Given the description of an element on the screen output the (x, y) to click on. 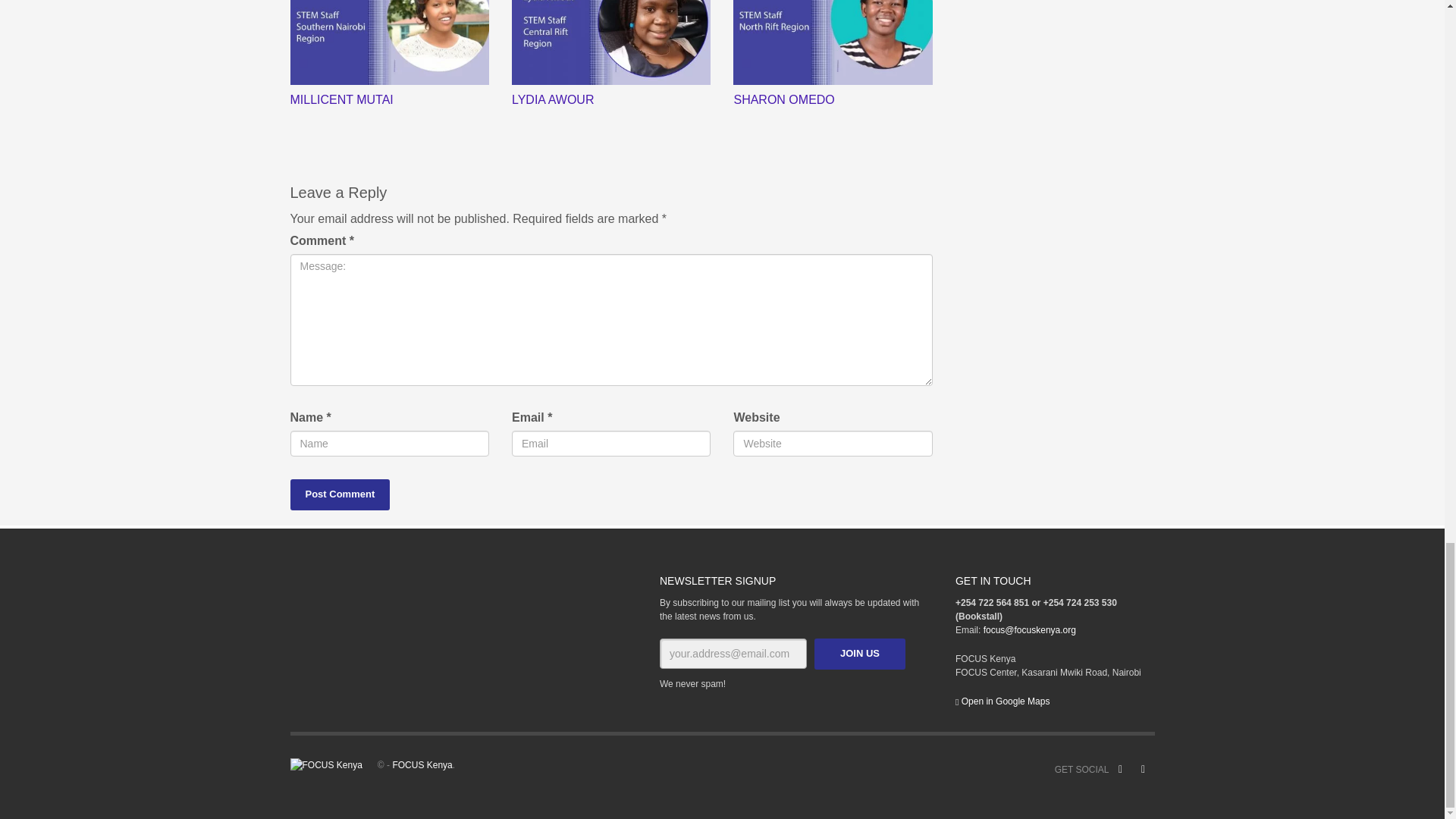
JOIN US (859, 653)
Post Comment (339, 494)
Lydia-Awour (611, 42)
Sharon-Omedo (832, 42)
Milscent (388, 42)
